Given the description of an element on the screen output the (x, y) to click on. 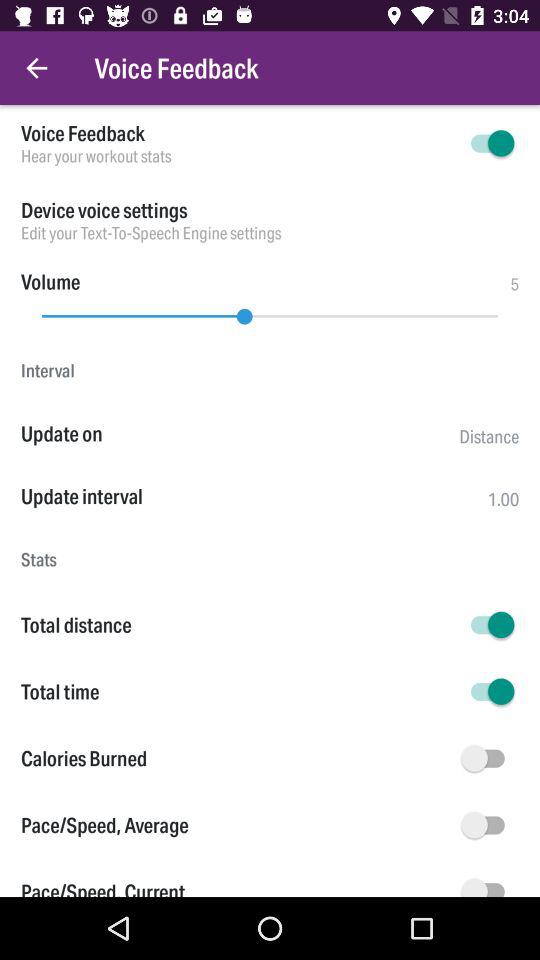
press calories burned icon (238, 758)
